Given the description of an element on the screen output the (x, y) to click on. 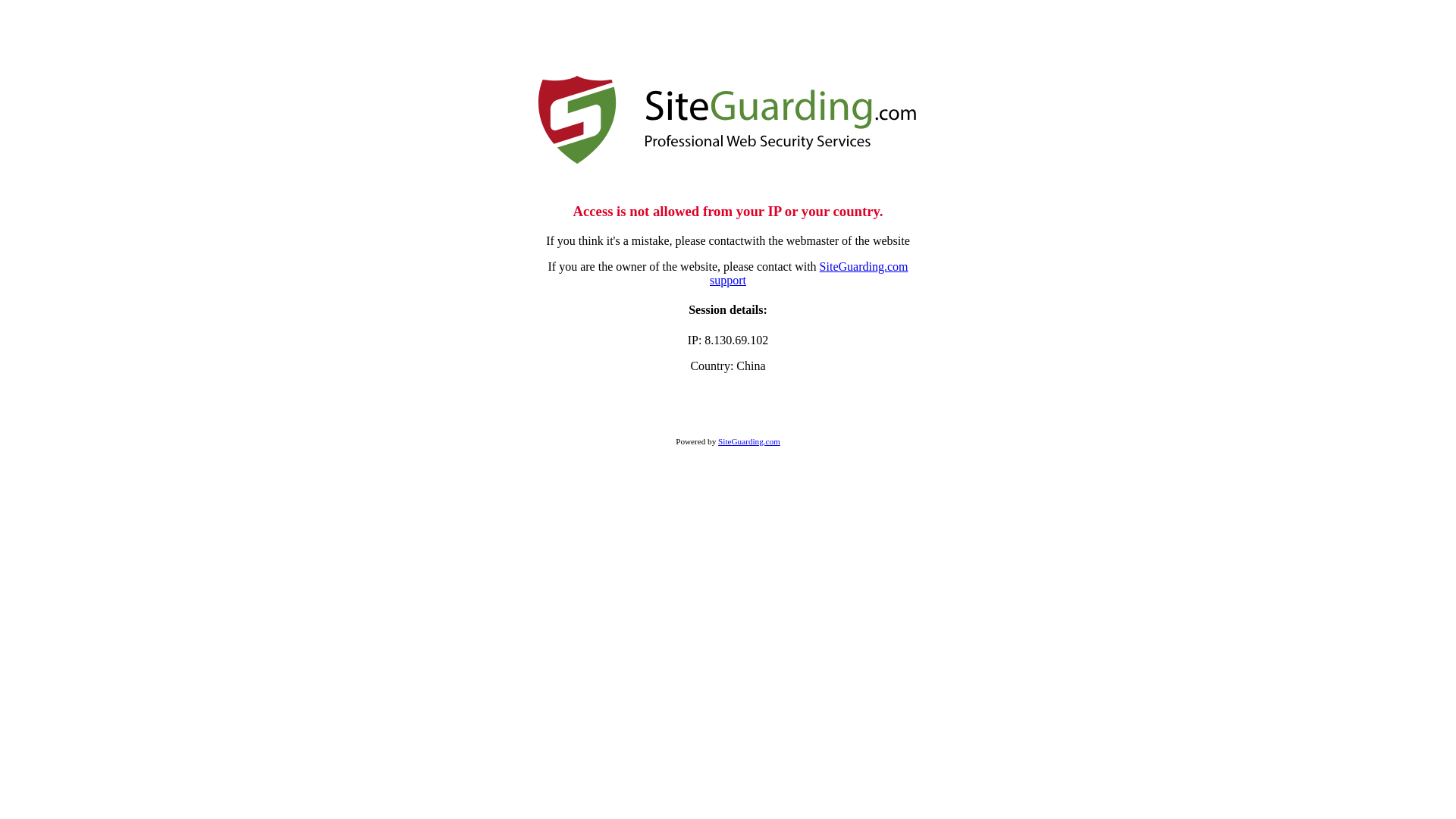
SiteGuarding.com support Element type: text (808, 273)
SiteGuarding.com Element type: text (749, 440)
